Given the description of an element on the screen output the (x, y) to click on. 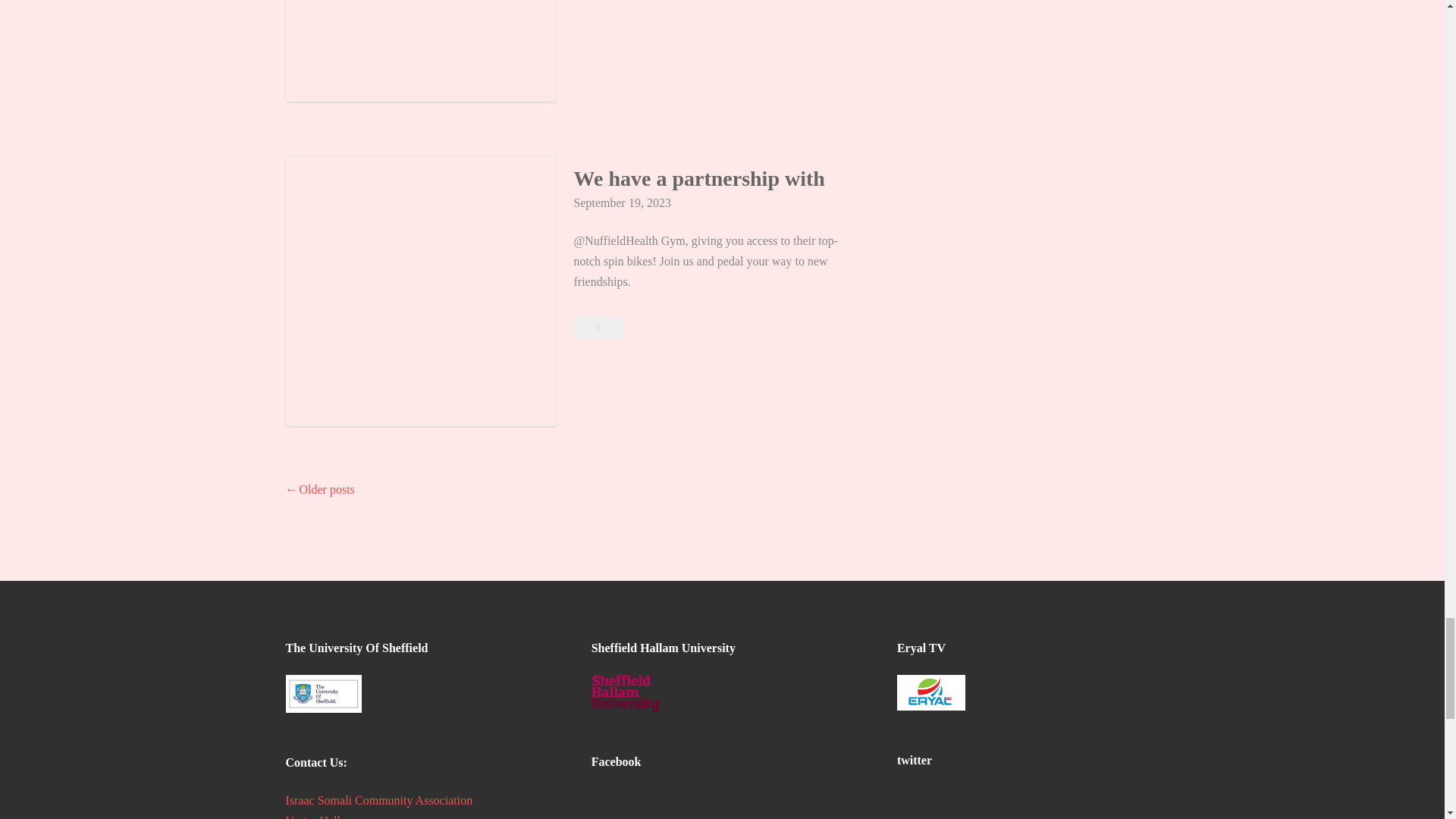
Sheffield Hallam University (625, 692)
The University Of Sheffield (323, 693)
Eryal TV (930, 692)
